Given the description of an element on the screen output the (x, y) to click on. 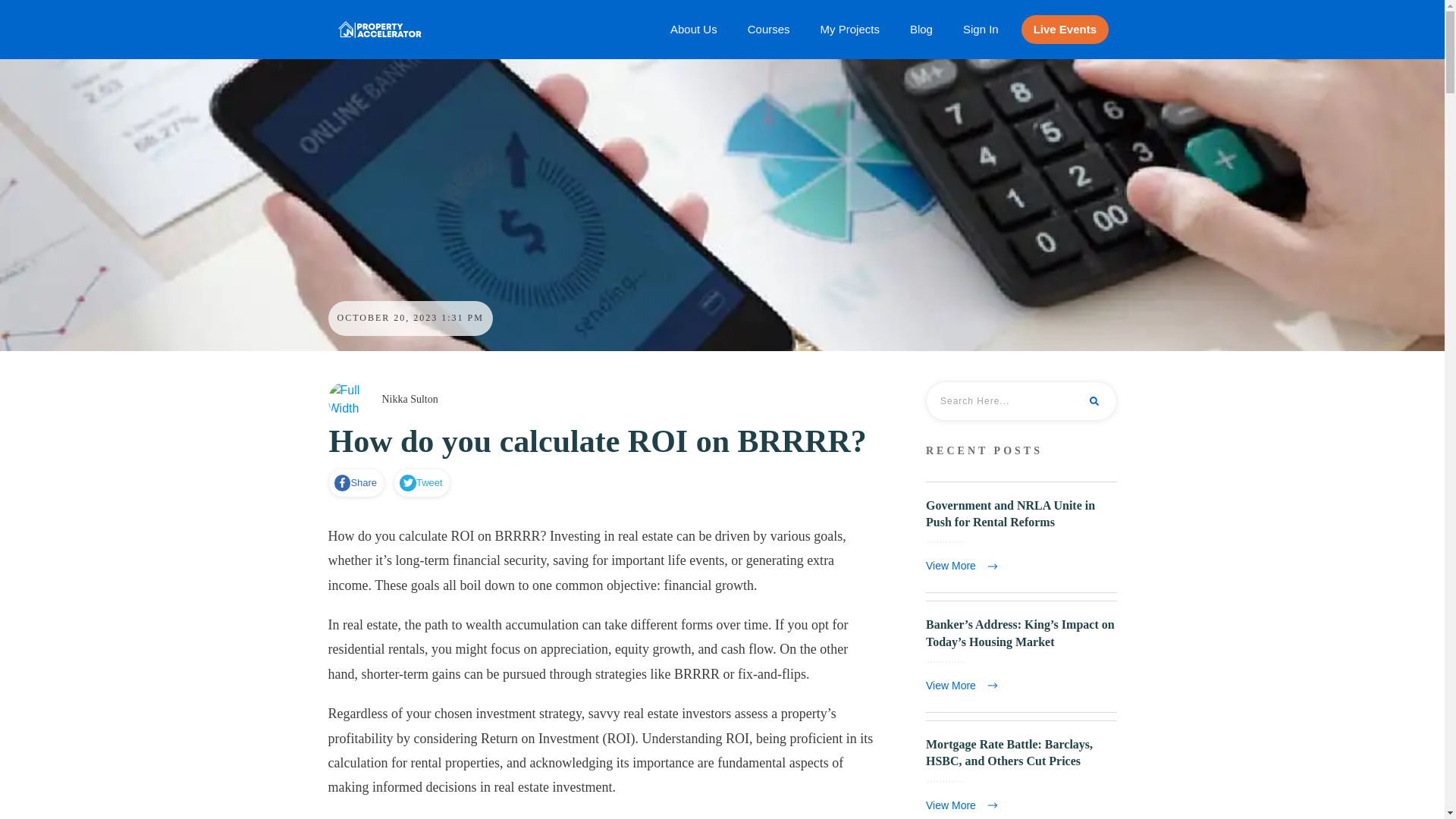
View More (964, 685)
Government and NRLA Unite in Push for Rental Reforms (1021, 537)
Full Width Featured Image With Sidebar (346, 399)
About Us (693, 29)
How do you calculate ROI on BRRRR? (597, 441)
Tweet (420, 483)
Share (355, 483)
Blog (921, 29)
Mortgage Rate Battle: Barclays, HSBC, and Others Cut Prices (1021, 770)
How do you calculate ROI on BRRRR? (597, 441)
Government and NRLA Unite in Push for Rental Reforms (1010, 513)
Live Events (1064, 29)
View More (964, 566)
Mortgage Rate Battle: Barclays, HSBC, and Others Cut Prices (1009, 752)
Sign In (980, 29)
